Given the description of an element on the screen output the (x, y) to click on. 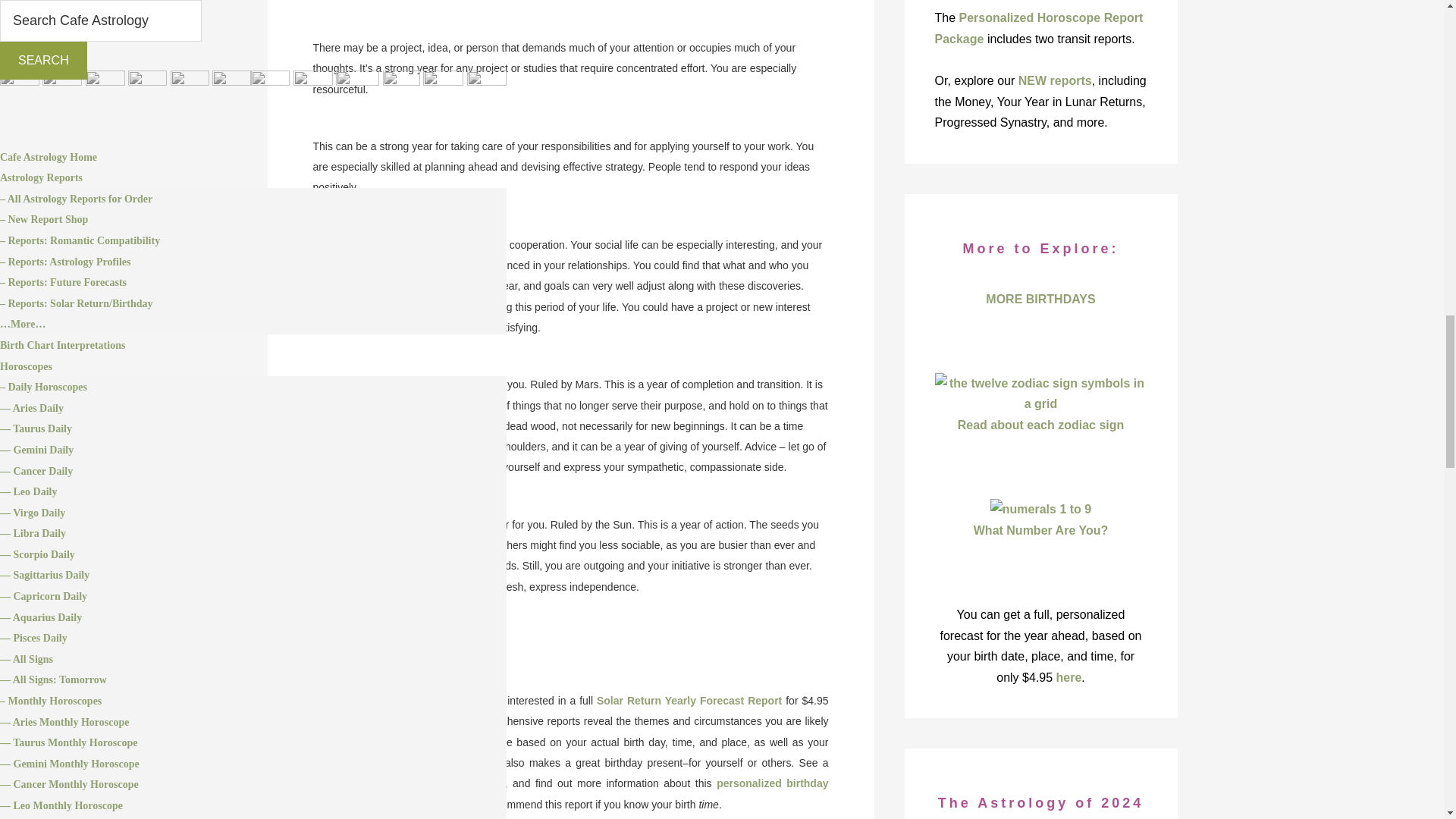
sample of one of these reports here (408, 783)
Solar Return Yearly Forecast Report (688, 700)
MORE BIRTHDAYS (360, 644)
personalized birthday forecast here (570, 793)
